Given the description of an element on the screen output the (x, y) to click on. 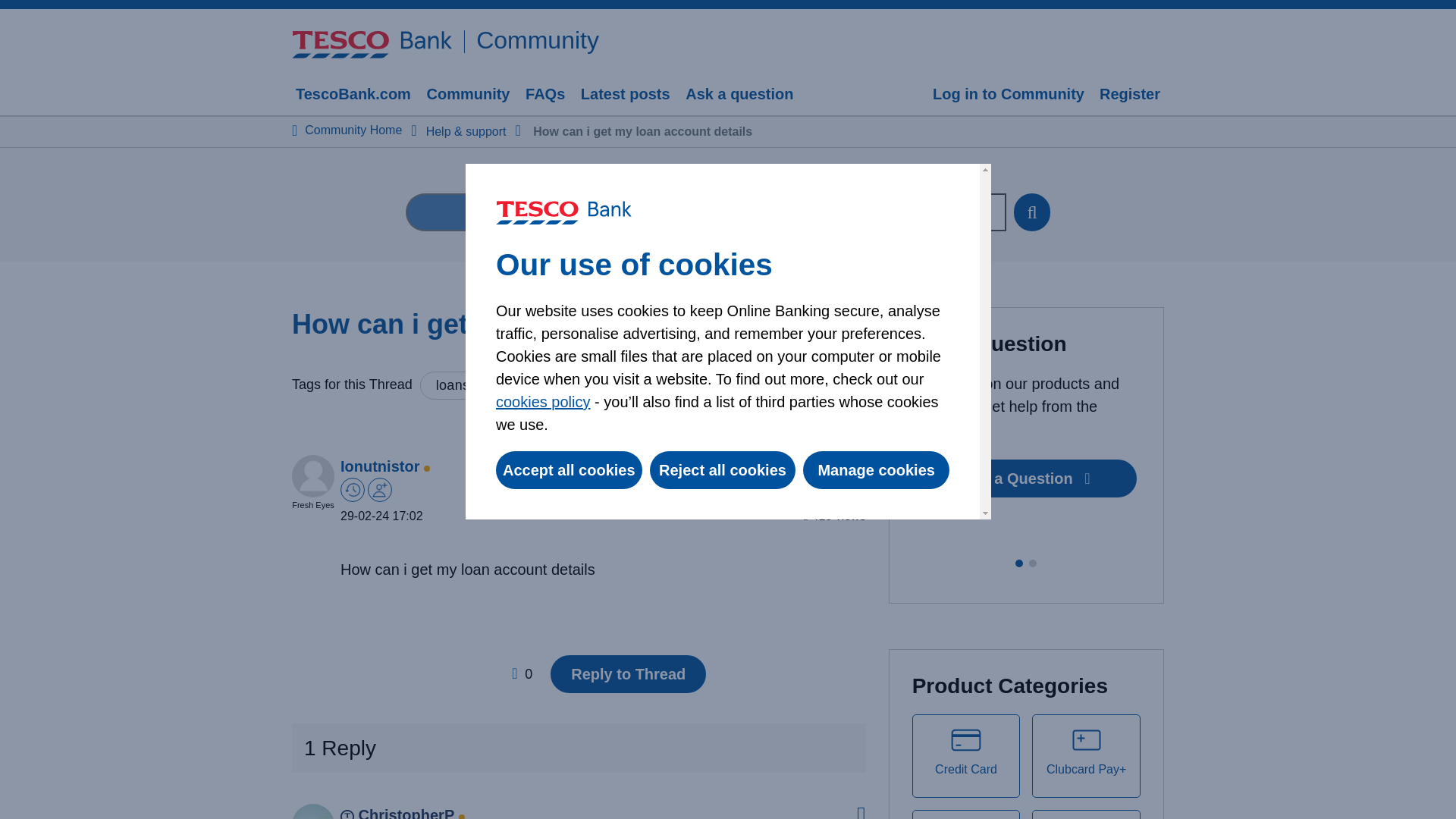
Log in to Community (1007, 95)
Community Home (352, 129)
ChristopherP is offline (397, 812)
Tesco Bank logo (371, 44)
first sign in (379, 489)
View Tag Cloud (539, 385)
ChristopherP is offline (313, 816)
loans (453, 385)
Community (467, 95)
ChristopherP's Avatar (313, 811)
FAQs (545, 95)
Ionutnistor (379, 466)
Latest posts (625, 95)
Ionutnistor is offline (379, 466)
TescoBank.com (353, 95)
